Given the description of an element on the screen output the (x, y) to click on. 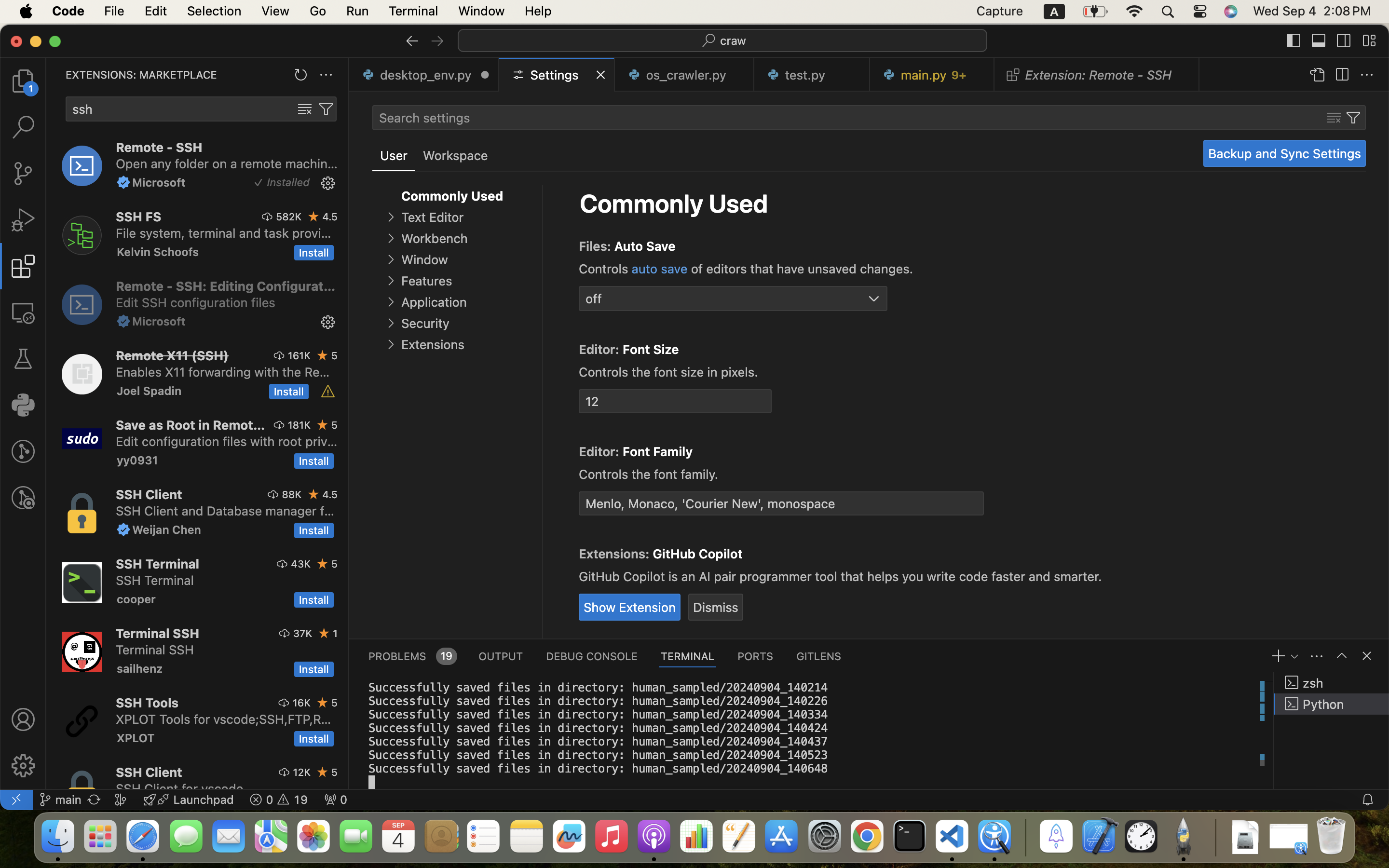
 Element type: AXStaticText (267, 216)
yy0931 Element type: AXStaticText (137, 459)
EXTENSIONS: MARKETPLACE Element type: AXStaticText (141, 74)
✓ Element type: AXStaticText (258, 182)
0  Element type: AXRadioButton (23, 80)
